Given the description of an element on the screen output the (x, y) to click on. 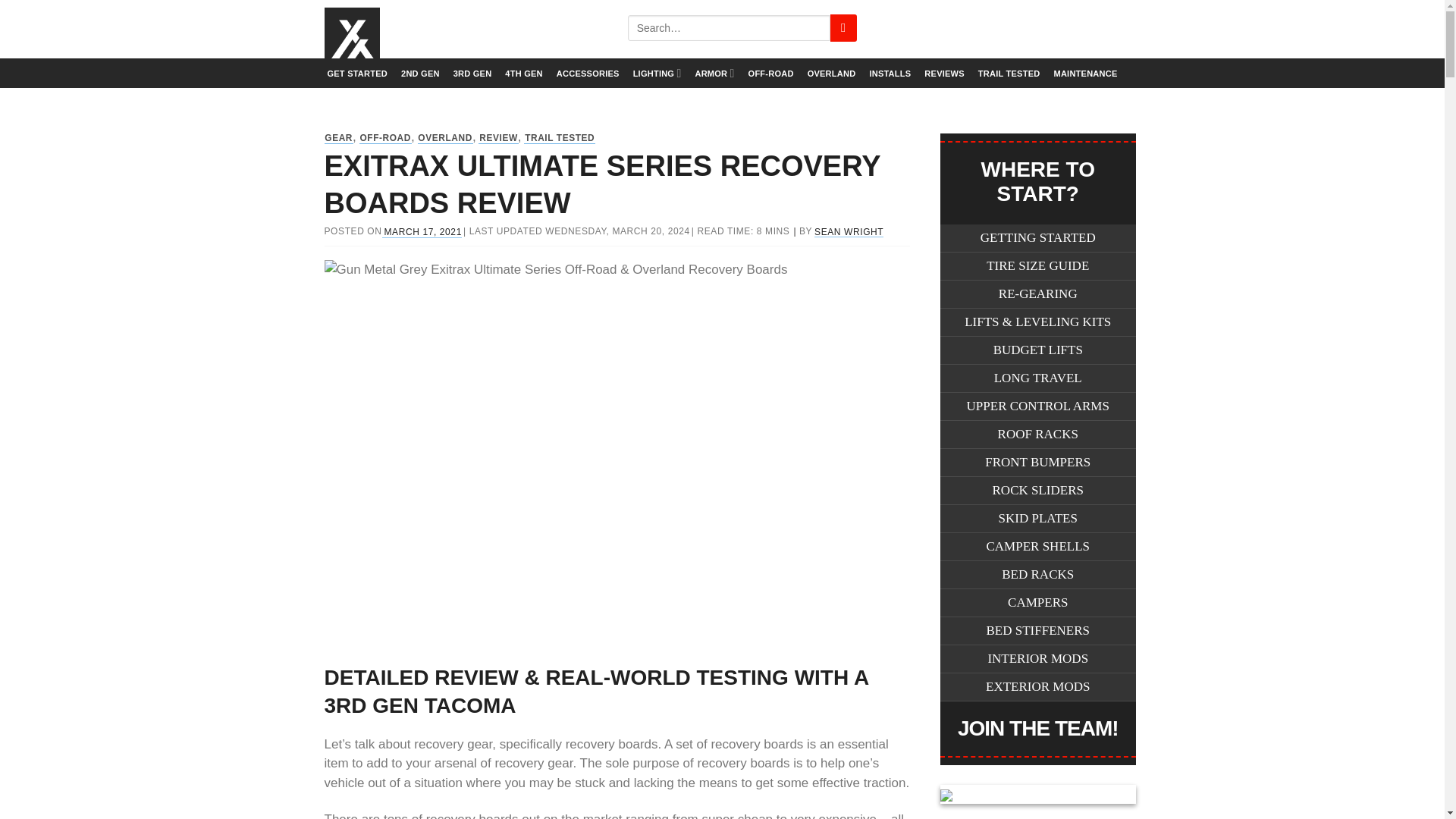
4TH GEN (523, 73)
OFF-ROAD (385, 137)
GET STARTED (356, 73)
SEAN WRIGHT (848, 232)
TRAIL TESTED (559, 137)
OVERLAND (445, 137)
OVERLAND (832, 73)
ARMOR (713, 72)
MARCH 17, 2021 (421, 232)
INSTALLS (890, 73)
